Given the description of an element on the screen output the (x, y) to click on. 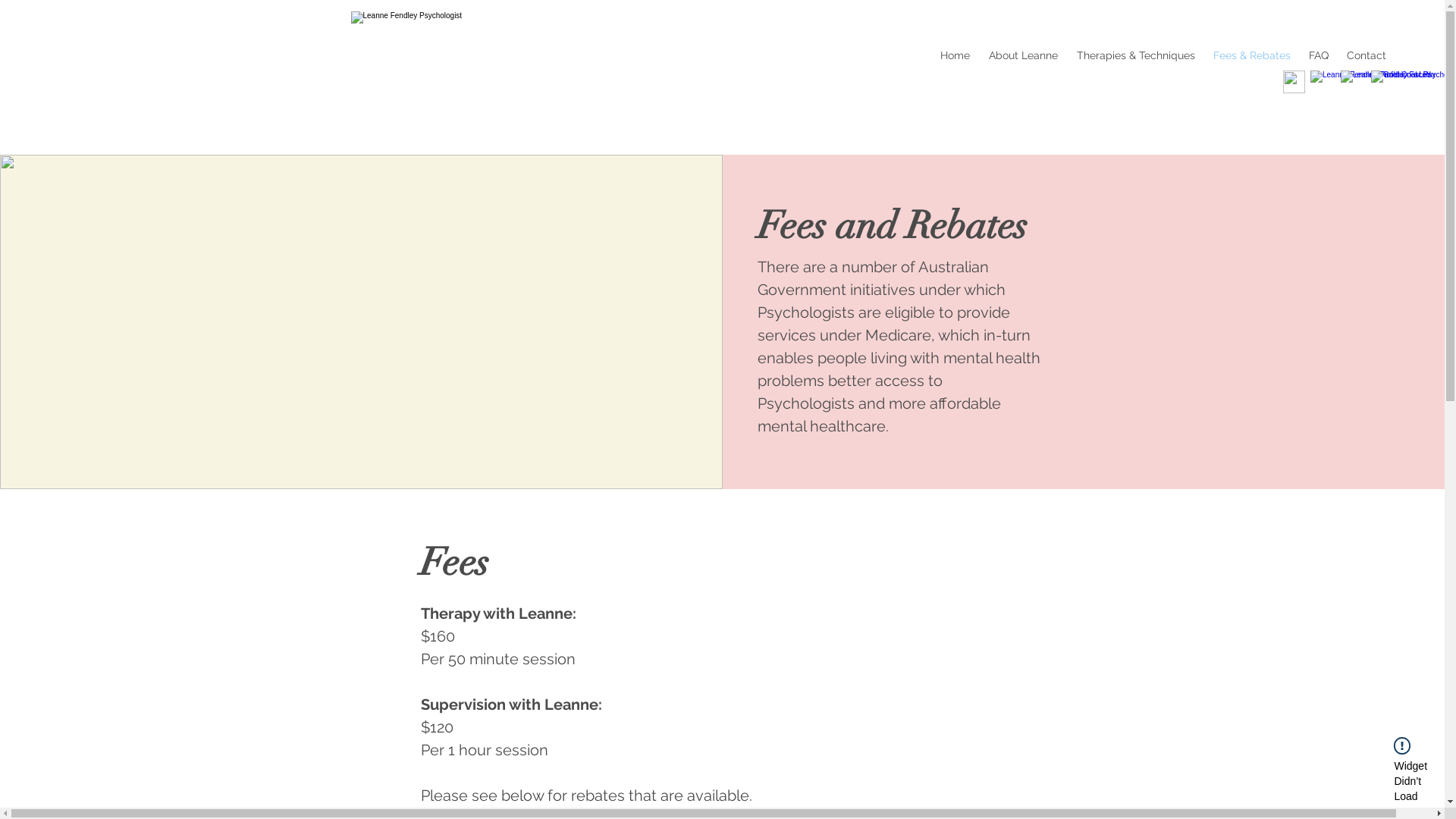
Fees & Rebates Element type: text (1250, 54)
Contact Element type: text (1364, 54)
FAQ Element type: text (1317, 54)
Home Element type: text (952, 54)
Therapies & Techniques Element type: text (1133, 54)
About Leanne Element type: text (1021, 54)
